Given the description of an element on the screen output the (x, y) to click on. 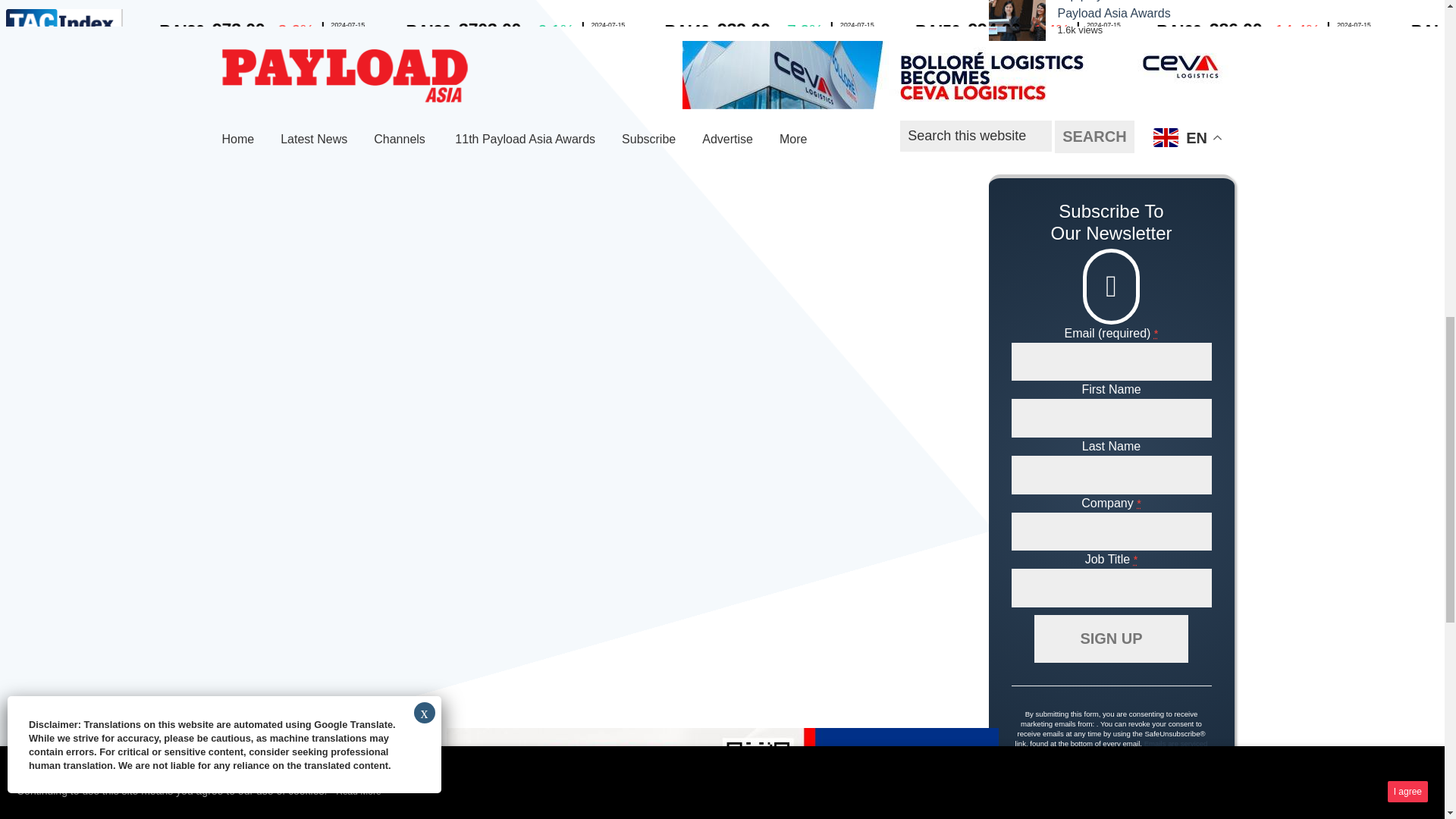
Sign up (1110, 638)
